Given the description of an element on the screen output the (x, y) to click on. 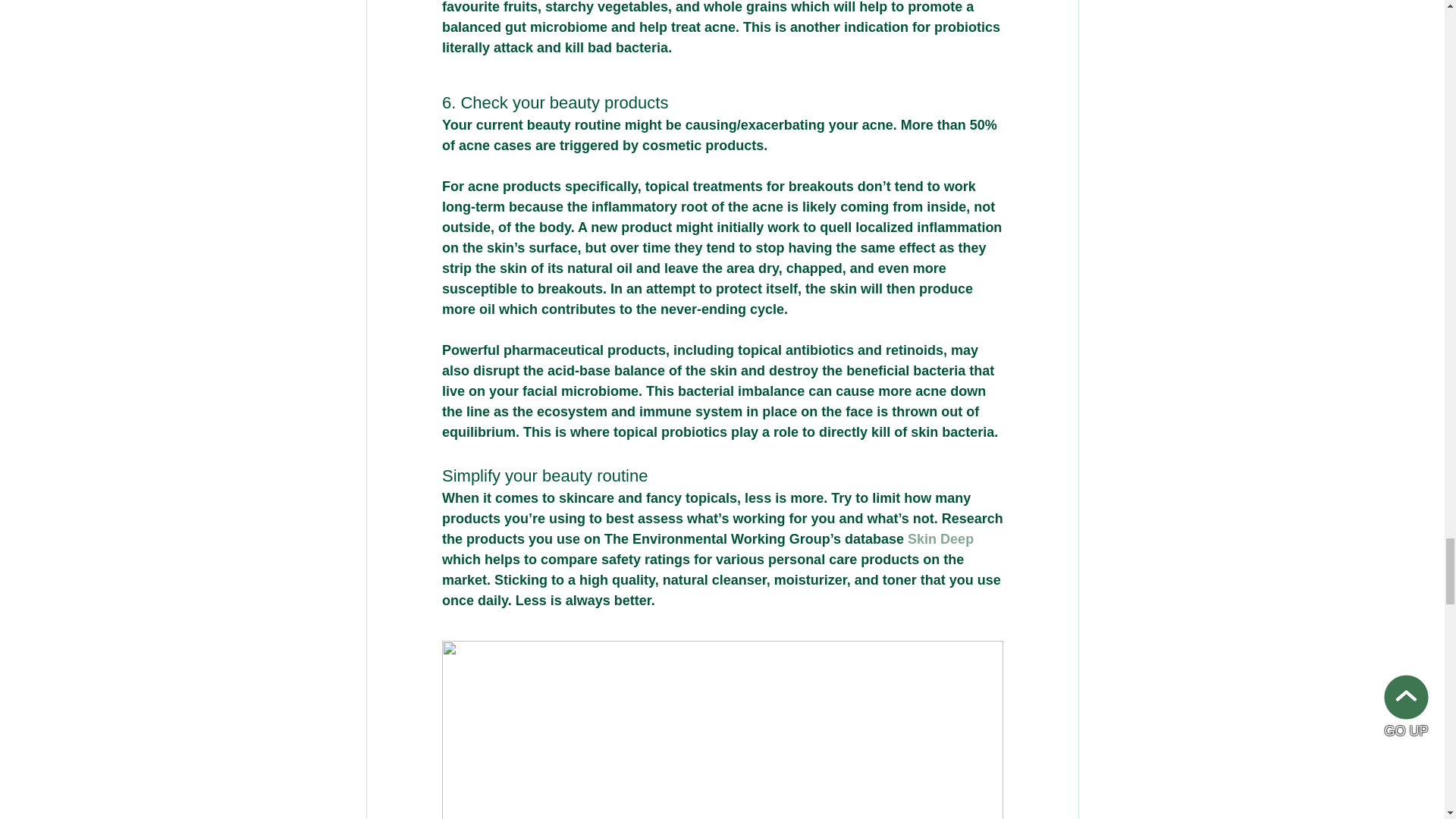
Skin Deep (940, 539)
